Given the description of an element on the screen output the (x, y) to click on. 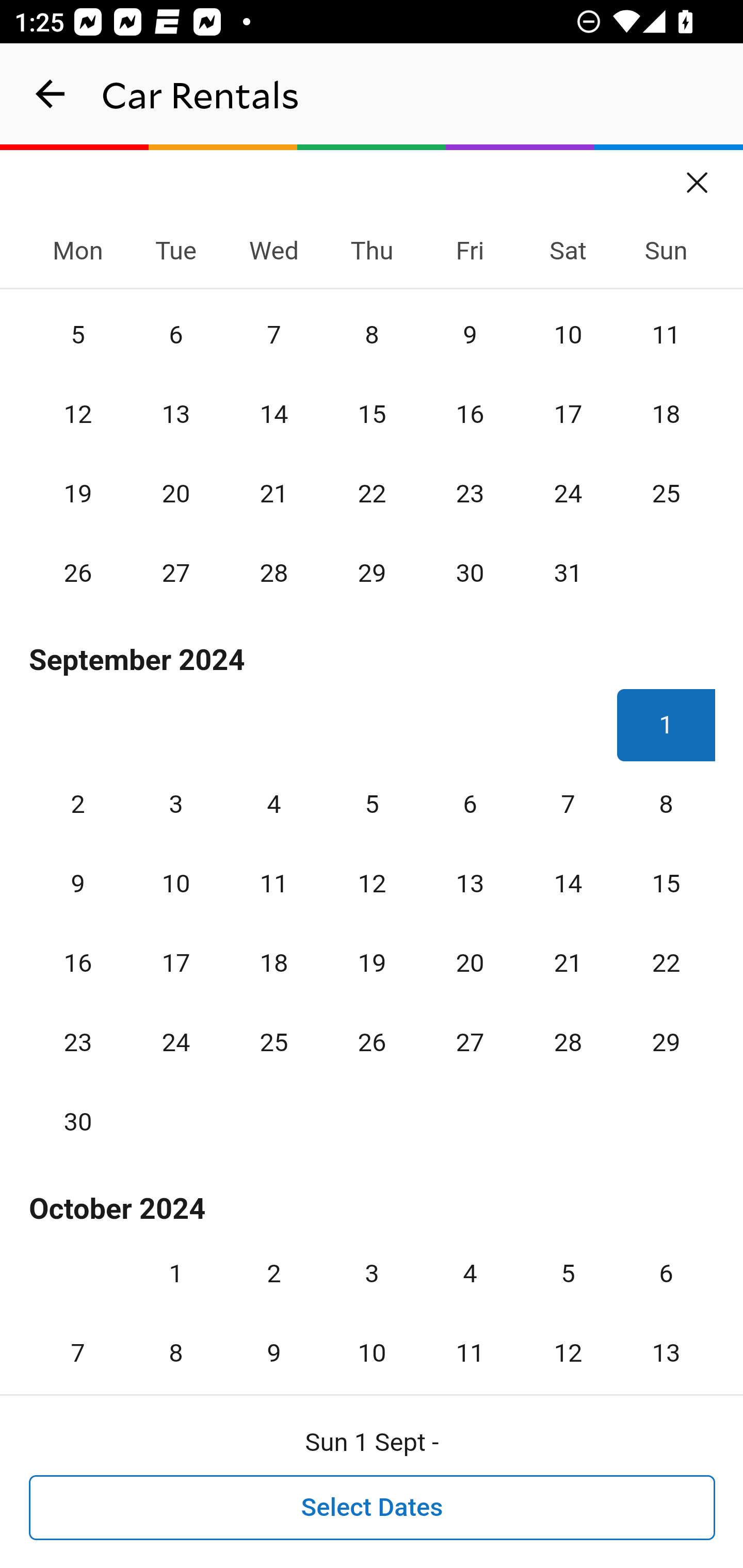
navigation_button (50, 93)
Close (697, 176)
5 August 2024 (77, 334)
6 August 2024 (175, 334)
7 August 2024 (273, 334)
8 August 2024 (371, 334)
9 August 2024 (470, 334)
10 August 2024 (567, 334)
11 August 2024 (665, 334)
12 August 2024 (77, 414)
13 August 2024 (175, 414)
14 August 2024 (273, 414)
15 August 2024 (371, 414)
16 August 2024 (470, 414)
17 August 2024 (567, 414)
18 August 2024 (665, 414)
19 August 2024 (77, 492)
20 August 2024 (175, 492)
21 August 2024 (273, 492)
22 August 2024 (371, 492)
23 August 2024 (470, 492)
24 August 2024 (567, 492)
25 August 2024 (665, 492)
26 August 2024 (77, 572)
27 August 2024 (175, 572)
28 August 2024 (273, 572)
29 August 2024 (371, 572)
30 August 2024 (470, 572)
31 August 2024 (567, 572)
1 September 2024 (665, 725)
2 September 2024 (77, 804)
3 September 2024 (175, 804)
4 September 2024 (273, 804)
5 September 2024 (371, 804)
6 September 2024 (470, 804)
7 September 2024 (567, 804)
8 September 2024 (665, 804)
9 September 2024 (77, 883)
10 September 2024 (175, 883)
11 September 2024 (273, 883)
12 September 2024 (371, 883)
13 September 2024 (470, 883)
14 September 2024 (567, 883)
15 September 2024 (665, 883)
16 September 2024 (77, 963)
17 September 2024 (175, 963)
18 September 2024 (273, 963)
19 September 2024 (371, 963)
20 September 2024 (470, 963)
21 September 2024 (567, 963)
22 September 2024 (665, 963)
23 September 2024 (77, 1041)
24 September 2024 (175, 1041)
25 September 2024 (273, 1041)
26 September 2024 (371, 1041)
27 September 2024 (470, 1041)
28 September 2024 (567, 1041)
29 September 2024 (665, 1041)
30 September 2024 (77, 1121)
1 October 2024 (175, 1273)
2 October 2024 (273, 1273)
3 October 2024 (371, 1273)
4 October 2024 (470, 1273)
5 October 2024 (567, 1273)
6 October 2024 (665, 1273)
7 October 2024 (77, 1341)
8 October 2024 (175, 1341)
9 October 2024 (273, 1341)
10 October 2024 (371, 1341)
11 October 2024 (470, 1341)
12 October 2024 (567, 1341)
13 October 2024 (665, 1341)
Select Dates (372, 1508)
